Given the description of an element on the screen output the (x, y) to click on. 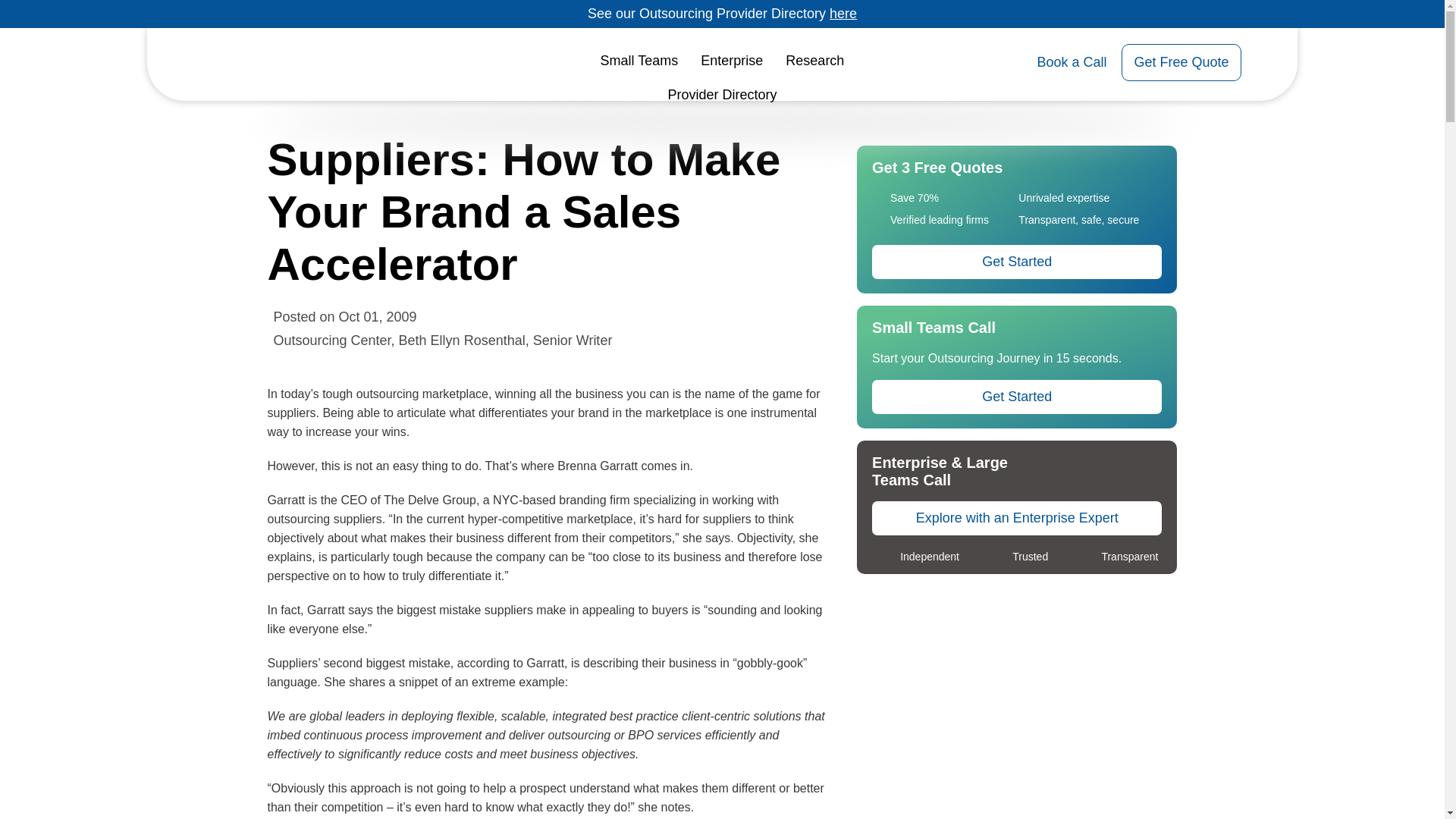
Get Free Quote (1180, 62)
facebook (711, 341)
here (843, 13)
Small Teams (639, 60)
Account (1265, 62)
Book a Call (1071, 61)
linkedin (681, 341)
share (771, 341)
twitter (742, 341)
